Given the description of an element on the screen output the (x, y) to click on. 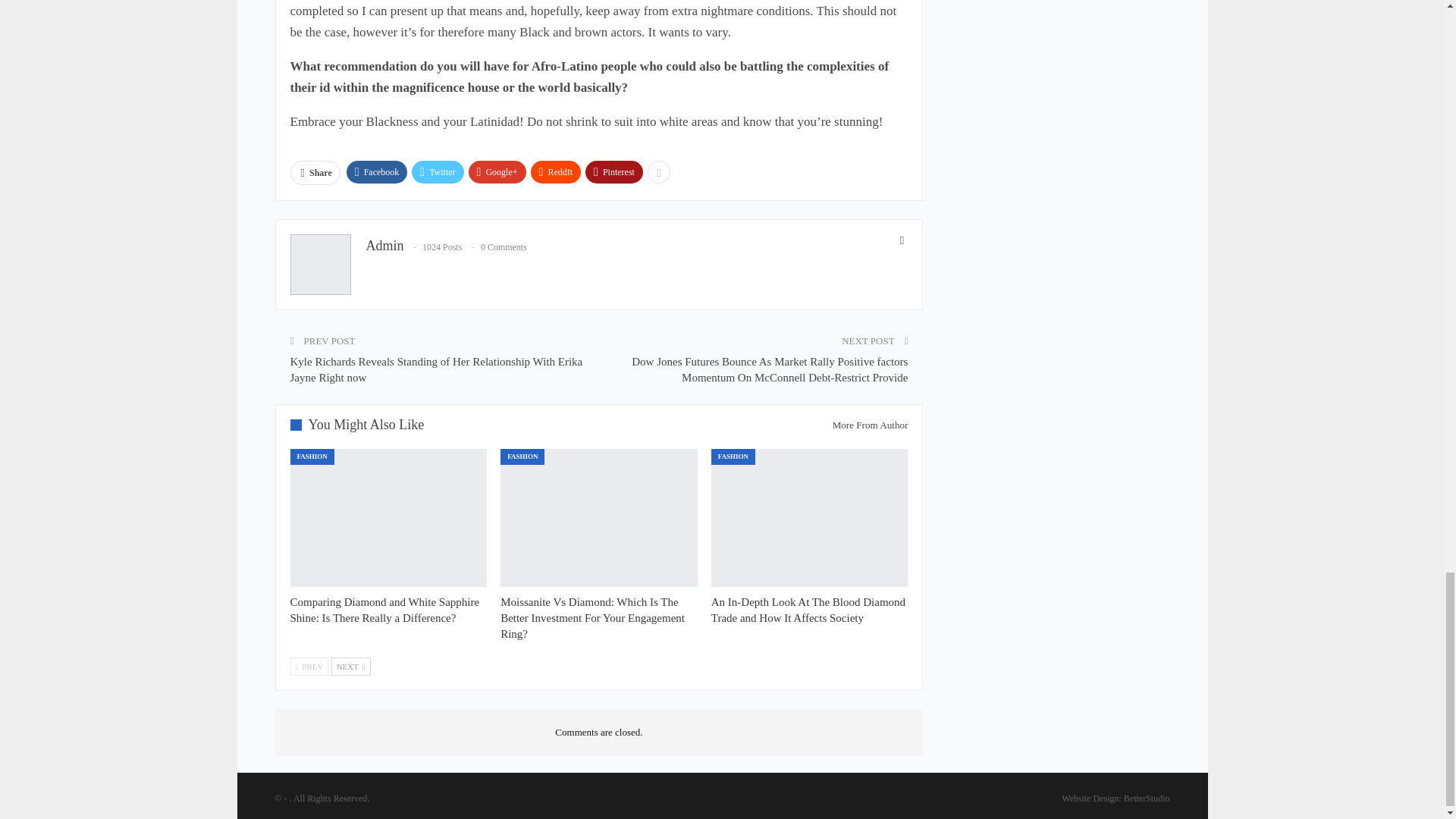
Next (351, 666)
Admin (384, 245)
ReddIt (555, 171)
Facebook (376, 171)
